Given the description of an element on the screen output the (x, y) to click on. 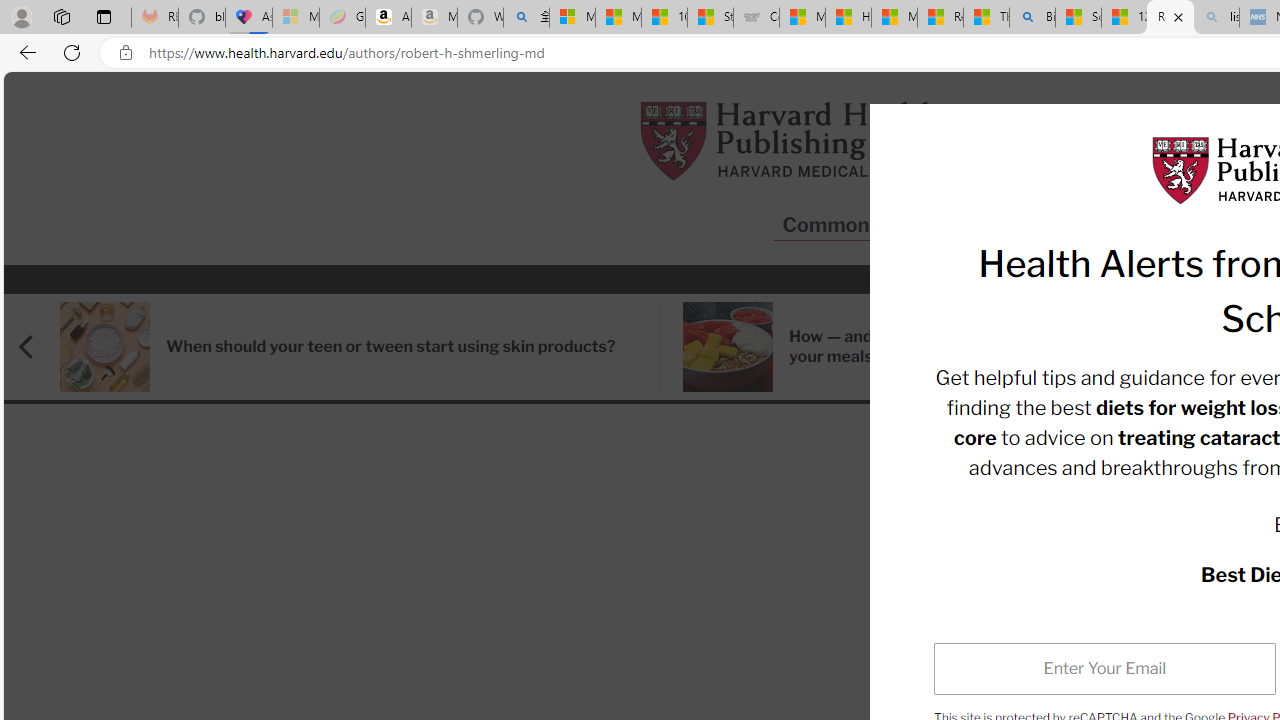
How I Got Rid of Microsoft Edge's Unnecessary Features (848, 17)
Bing (1031, 17)
Harvard Health Publishing Logo (789, 140)
blog image 1 (728, 346)
Enter Your Email (1105, 668)
